Given the description of an element on the screen output the (x, y) to click on. 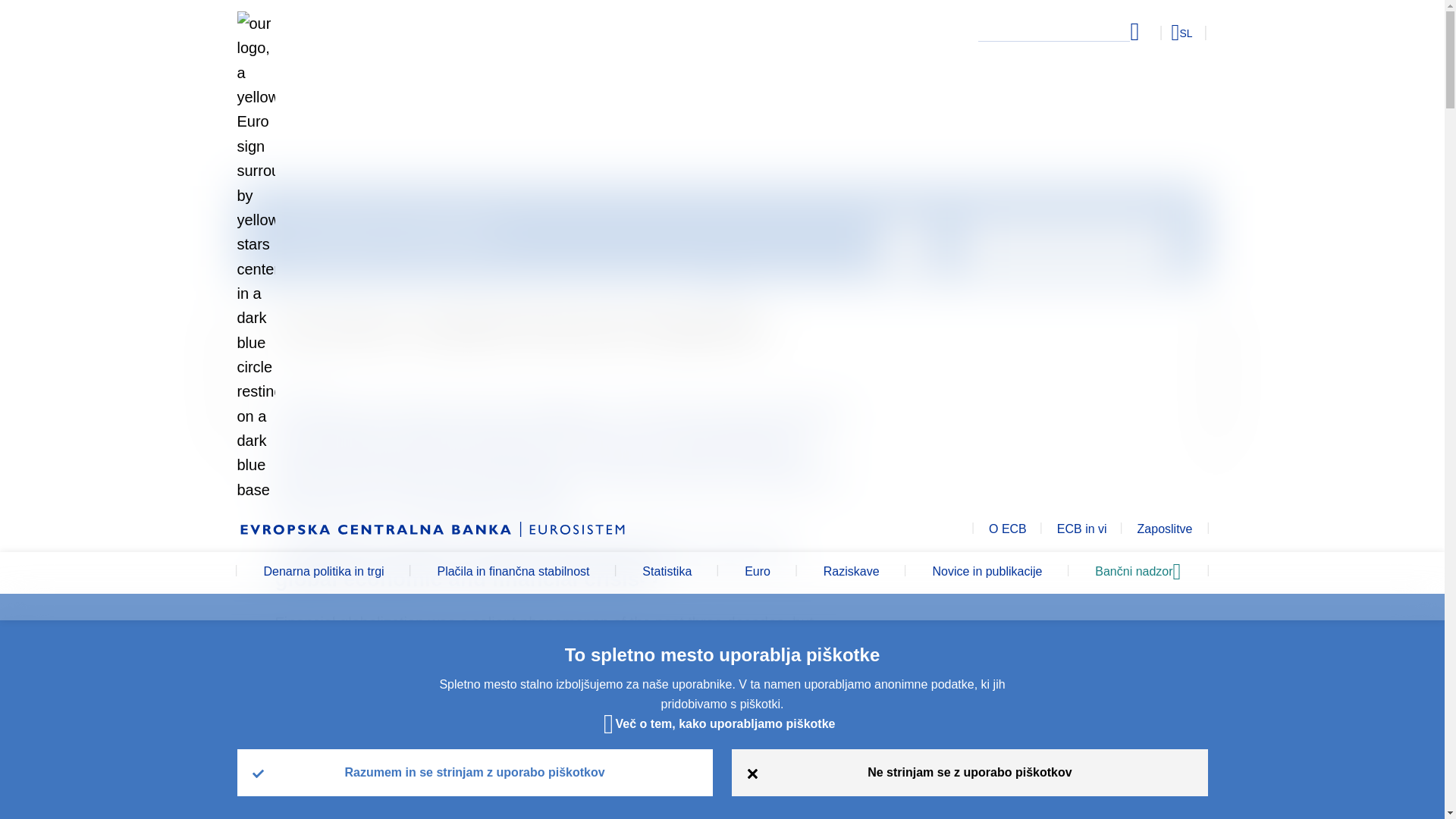
Denarna politika in trgi (322, 572)
Select language (1153, 32)
